Given the description of an element on the screen output the (x, y) to click on. 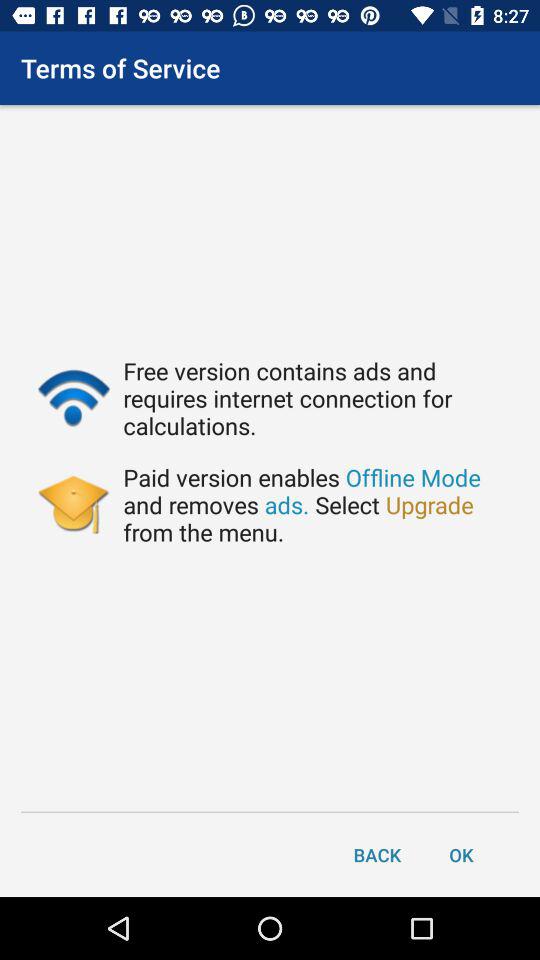
select the item next to ok icon (377, 854)
